Given the description of an element on the screen output the (x, y) to click on. 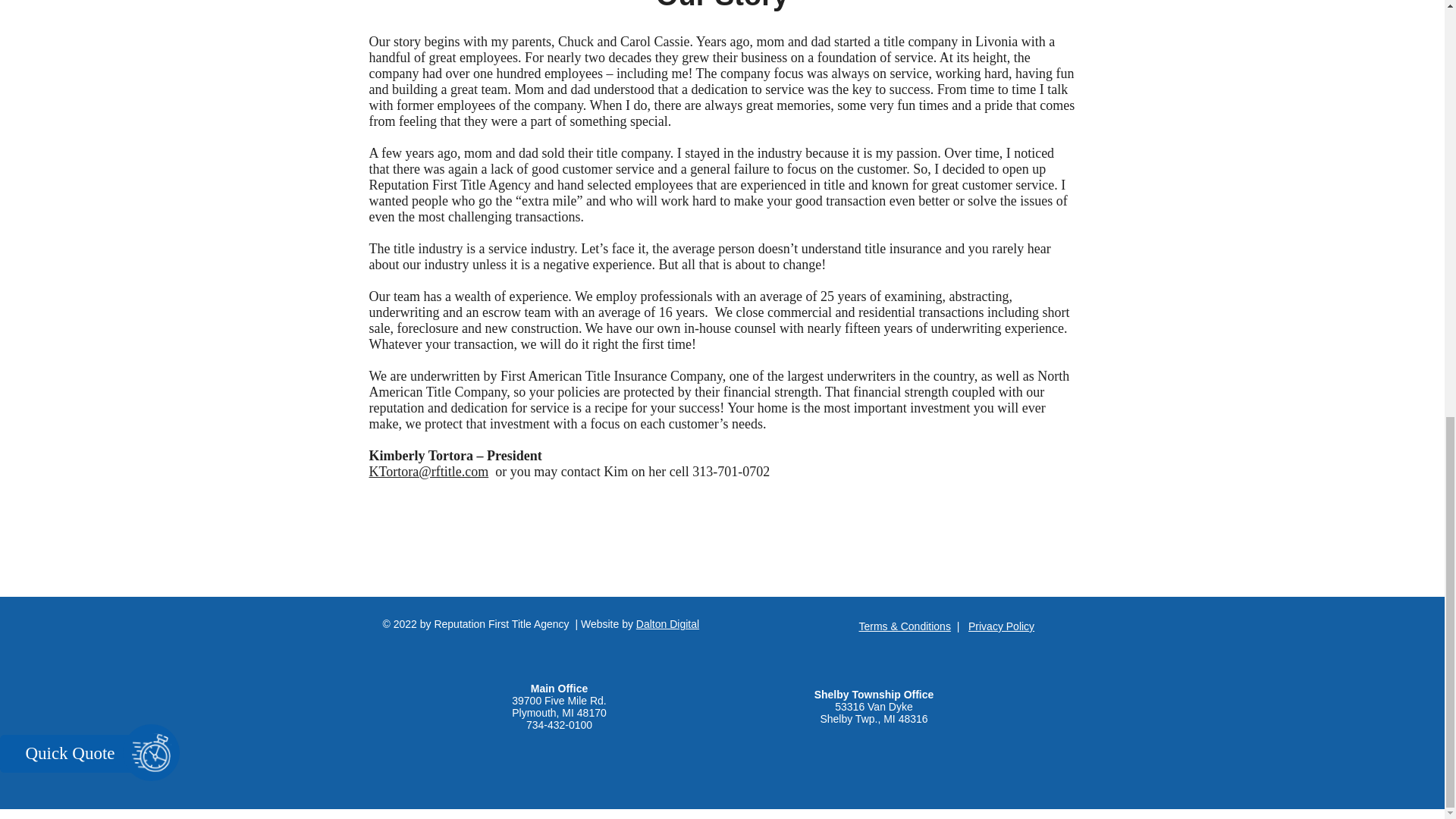
Dalton Digital (667, 623)
Privacy Policy (1000, 625)
